Given the description of an element on the screen output the (x, y) to click on. 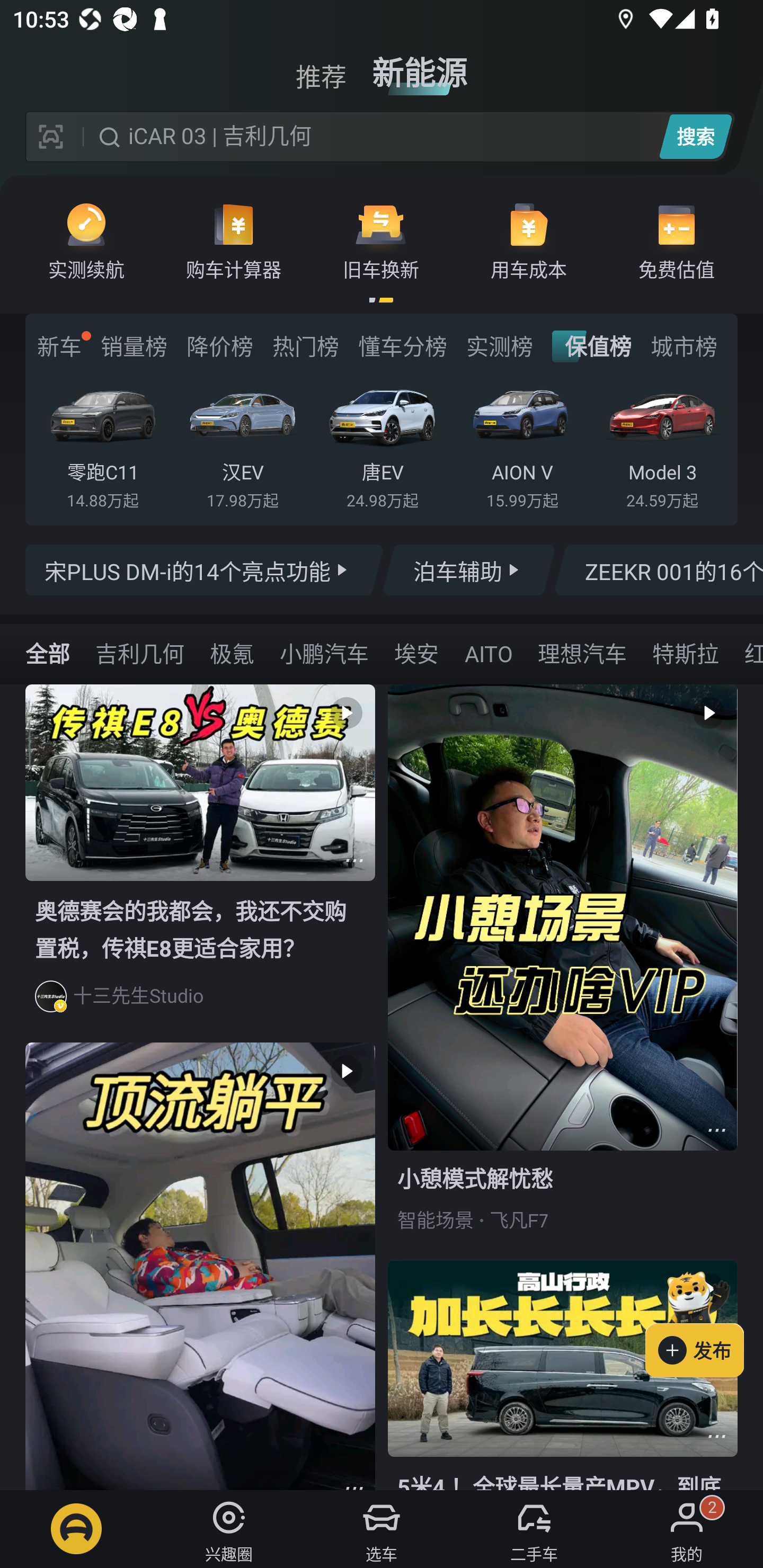
推荐 (321, 65)
新能源 (419, 65)
搜索 (695, 136)
实测续航 (86, 240)
购车计算器 (233, 240)
旧车换新 (380, 240)
用车成本 (528, 240)
免费估值 (676, 240)
新车 (59, 346)
销量榜 (133, 346)
降价榜 (219, 346)
热门榜 (305, 346)
懂车分榜 (402, 346)
实测榜 (499, 346)
保值榜 (591, 346)
城市榜 (683, 346)
零跑C11 14.88万起 (102, 442)
汉EV 17.98万起 (242, 442)
唐EV 24.98万起 (382, 442)
AION V 15.99万起 (522, 442)
Model 3 24.59万起 (662, 442)
宋PLUS DM-i的14个亮点功能 (204, 569)
泊车辅助 (468, 569)
ZEEKR 001的16个亮点功能 (658, 569)
全部 (47, 652)
吉利几何 (139, 652)
极氪 (231, 652)
小鹏汽车 (324, 652)
埃安 (416, 652)
AITO (487, 652)
理想汽车 (581, 652)
特斯拉 (685, 652)
  奥德赛会的我都会，我还不交购置税，传祺E8更适合家用？ 十三先生Studio (200, 862)
  小憩模式解忧愁 智能场景 飞凡F7 (562, 971)
 (354, 860)
  (200, 1265)
 (716, 1130)
飞凡F7 (518, 1220)
  5米4 ！全球最长量产MPV，到底好不好开？ (562, 1374)
发布 (704, 1320)
 (716, 1436)
 兴趣圈 (228, 1528)
 选车 (381, 1528)
 二手车 (533, 1528)
 我的 (686, 1528)
